Given the description of an element on the screen output the (x, y) to click on. 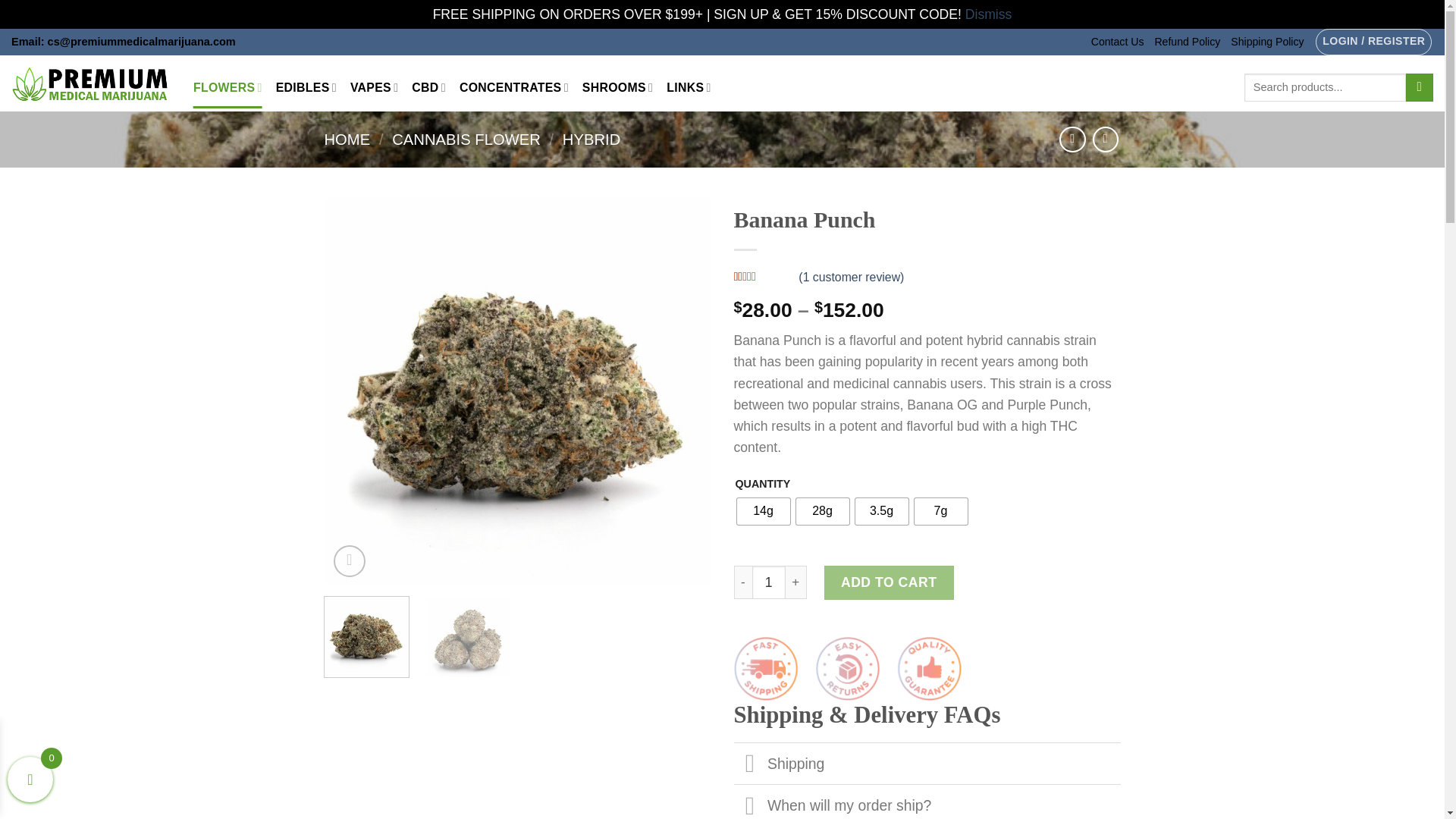
Qty (769, 581)
3.5g (882, 510)
Zoom (349, 561)
Refund Policy (1187, 41)
CONCENTRATES (514, 87)
EDIBLES (306, 87)
Dismiss (988, 14)
FLOWERS (227, 87)
1 (769, 581)
